Given the description of an element on the screen output the (x, y) to click on. 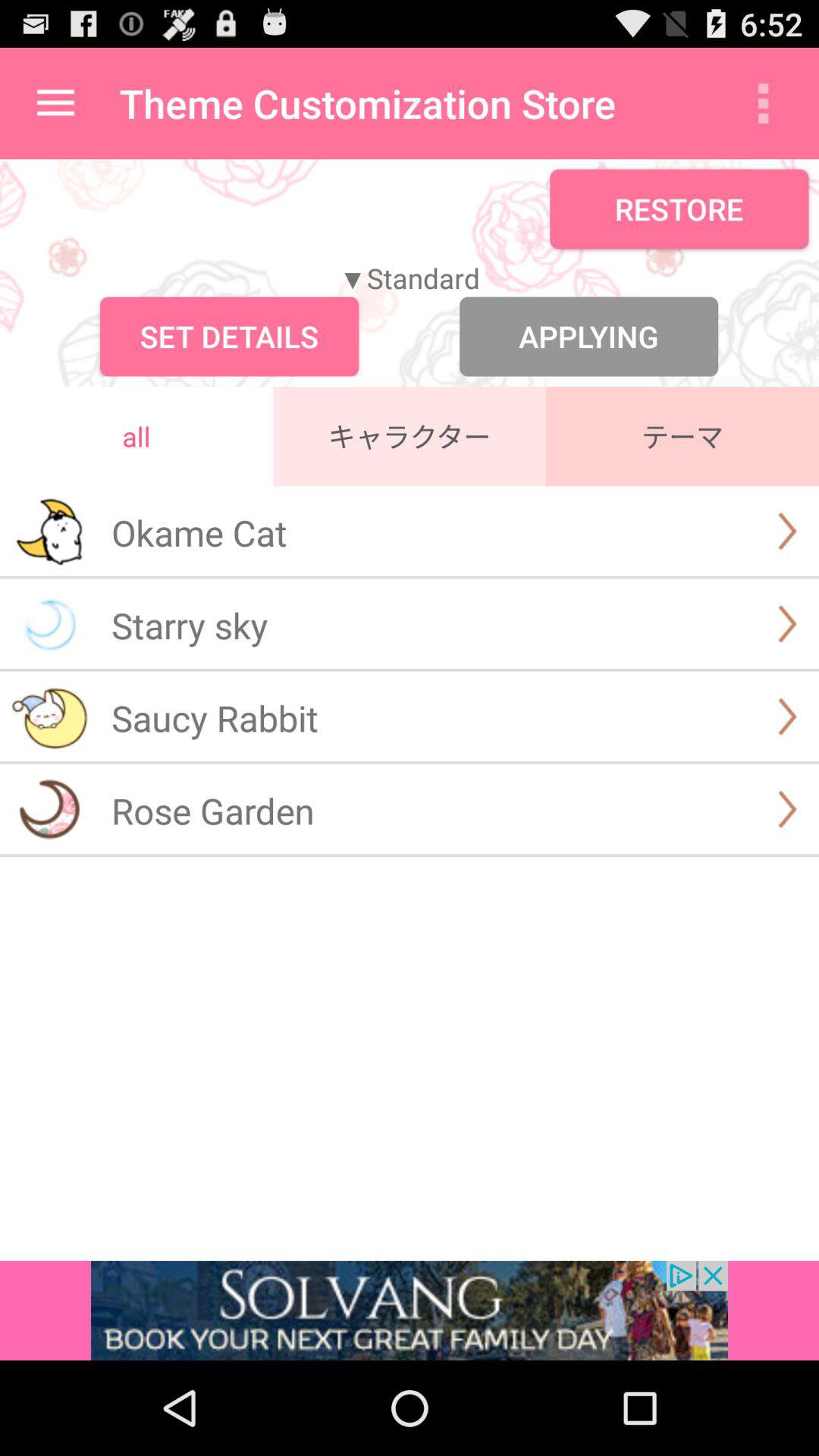
open advertisement (409, 1310)
